Given the description of an element on the screen output the (x, y) to click on. 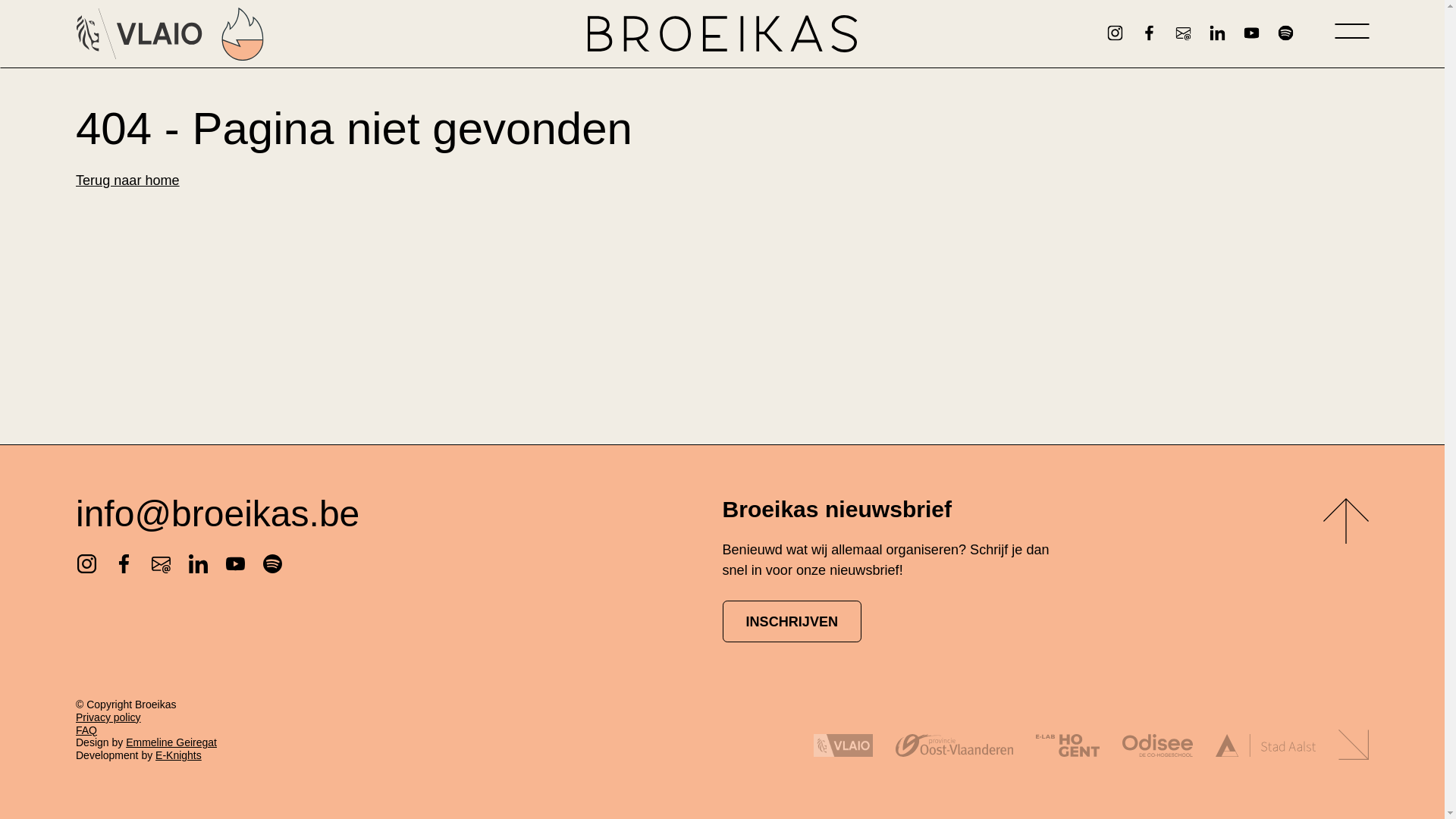
Back to top Element type: hover (1345, 523)
Volg ons op YouTube Element type: text (234, 564)
Volg ons op Facebook Element type: text (123, 564)
Volg ons op Instagram Element type: text (1114, 33)
Privacy policy Element type: text (108, 717)
FAQ Element type: text (86, 730)
Volg ons op E-mail Element type: text (160, 564)
Ontdek al onze partners Element type: hover (1353, 745)
Volg ons op LinkedIn Element type: text (197, 564)
Volg ons op Spotify Element type: text (1284, 33)
Volg ons op Facebook Element type: text (1148, 33)
INSCHRIJVEN Element type: text (791, 621)
Volg ons op E-mail Element type: text (1182, 33)
Menu Element type: text (1351, 33)
Volg ons op Spotify Element type: text (272, 564)
E-Knights Element type: text (178, 755)
Volg ons op LinkedIn Element type: text (1216, 33)
Volg ons op YouTube Element type: text (1250, 33)
info@broeikas.be Element type: text (217, 513)
Emmeline Geiregat Element type: text (170, 742)
Terug naar home Element type: text (127, 180)
Volg ons op Instagram Element type: text (86, 564)
